Given the description of an element on the screen output the (x, y) to click on. 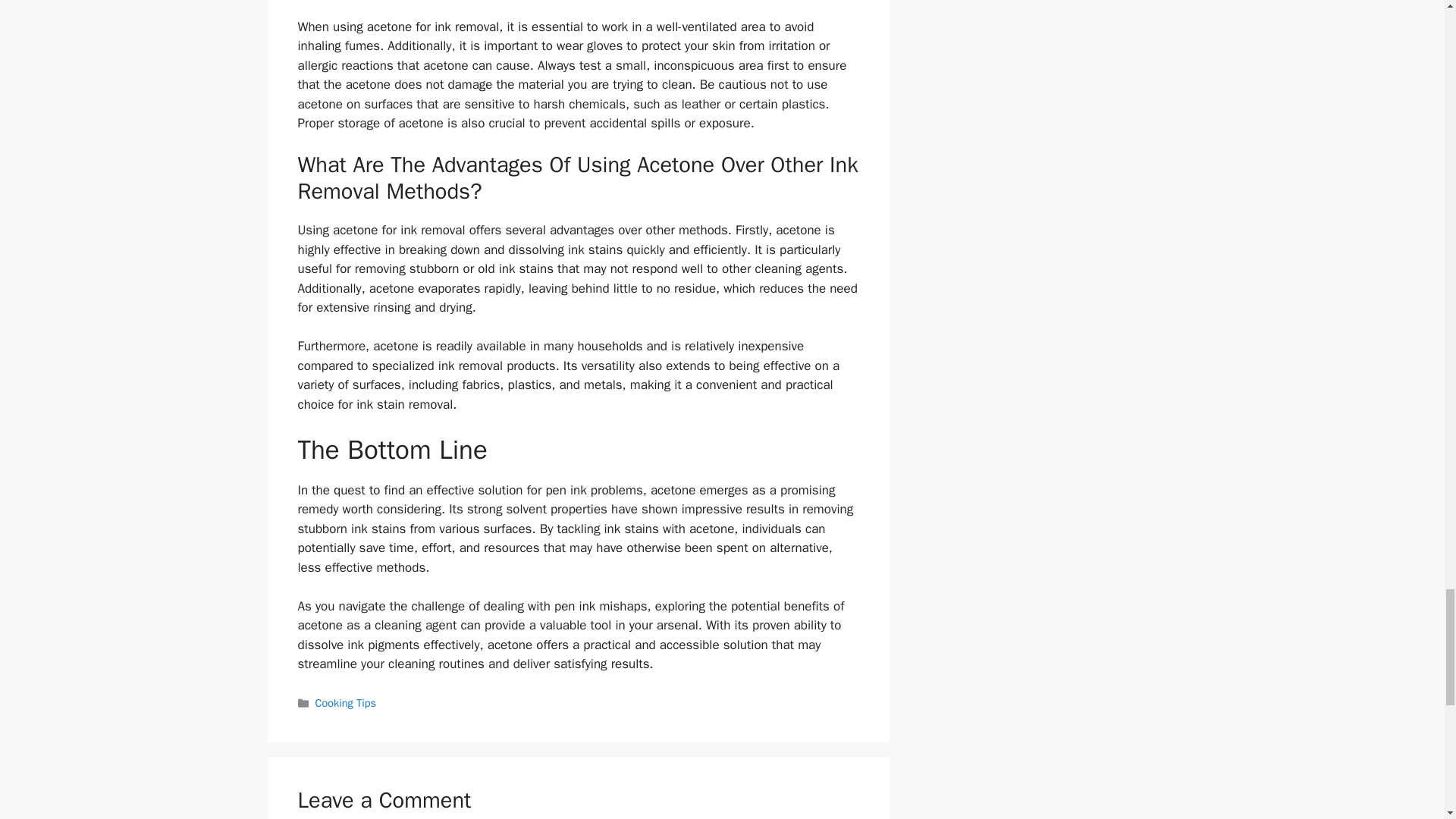
Cooking Tips (345, 703)
